Given the description of an element on the screen output the (x, y) to click on. 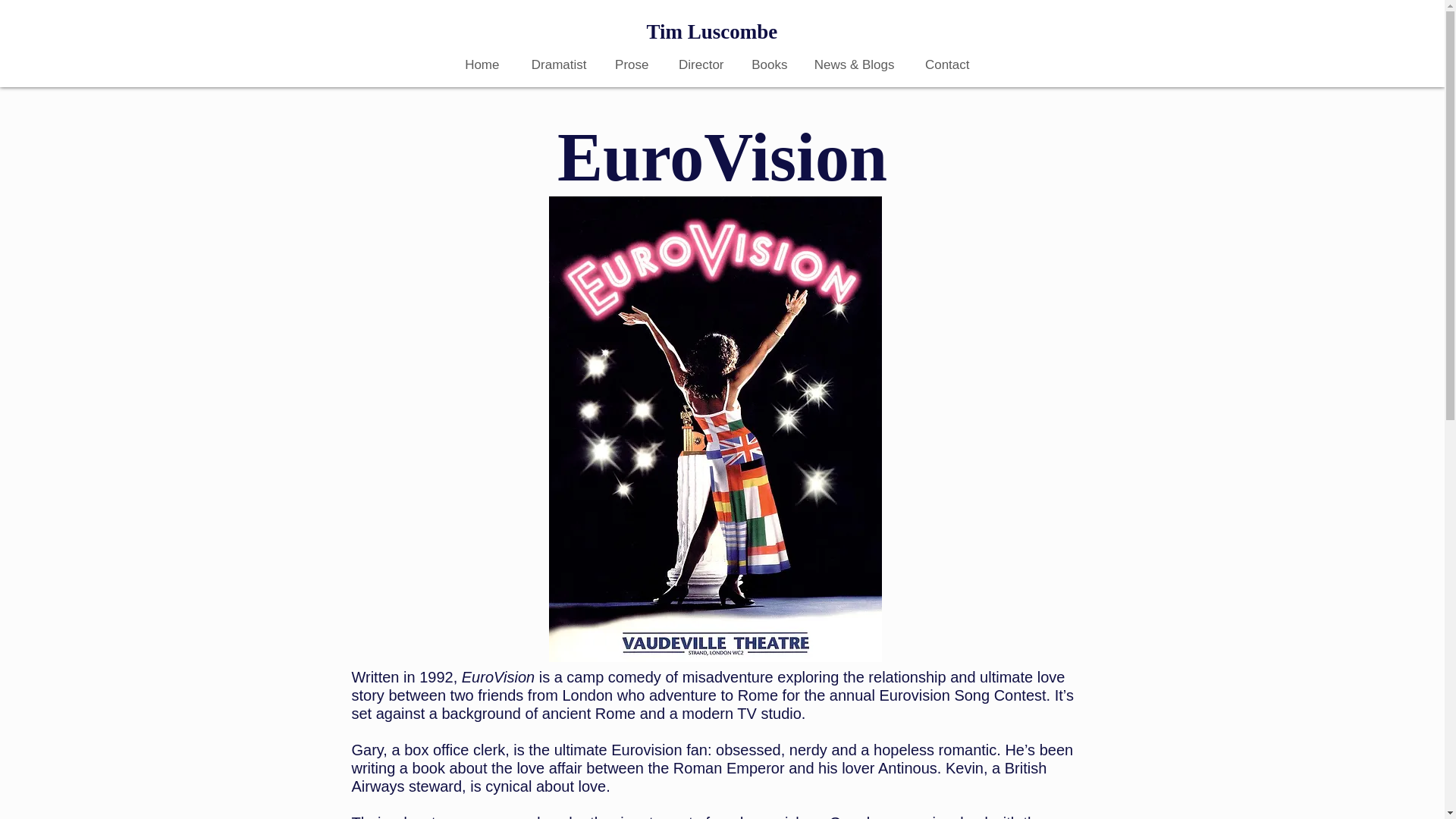
Contact (942, 64)
Dramatist (554, 64)
Home (478, 64)
Books (767, 64)
Director (697, 64)
Prose (627, 64)
